Given the description of an element on the screen output the (x, y) to click on. 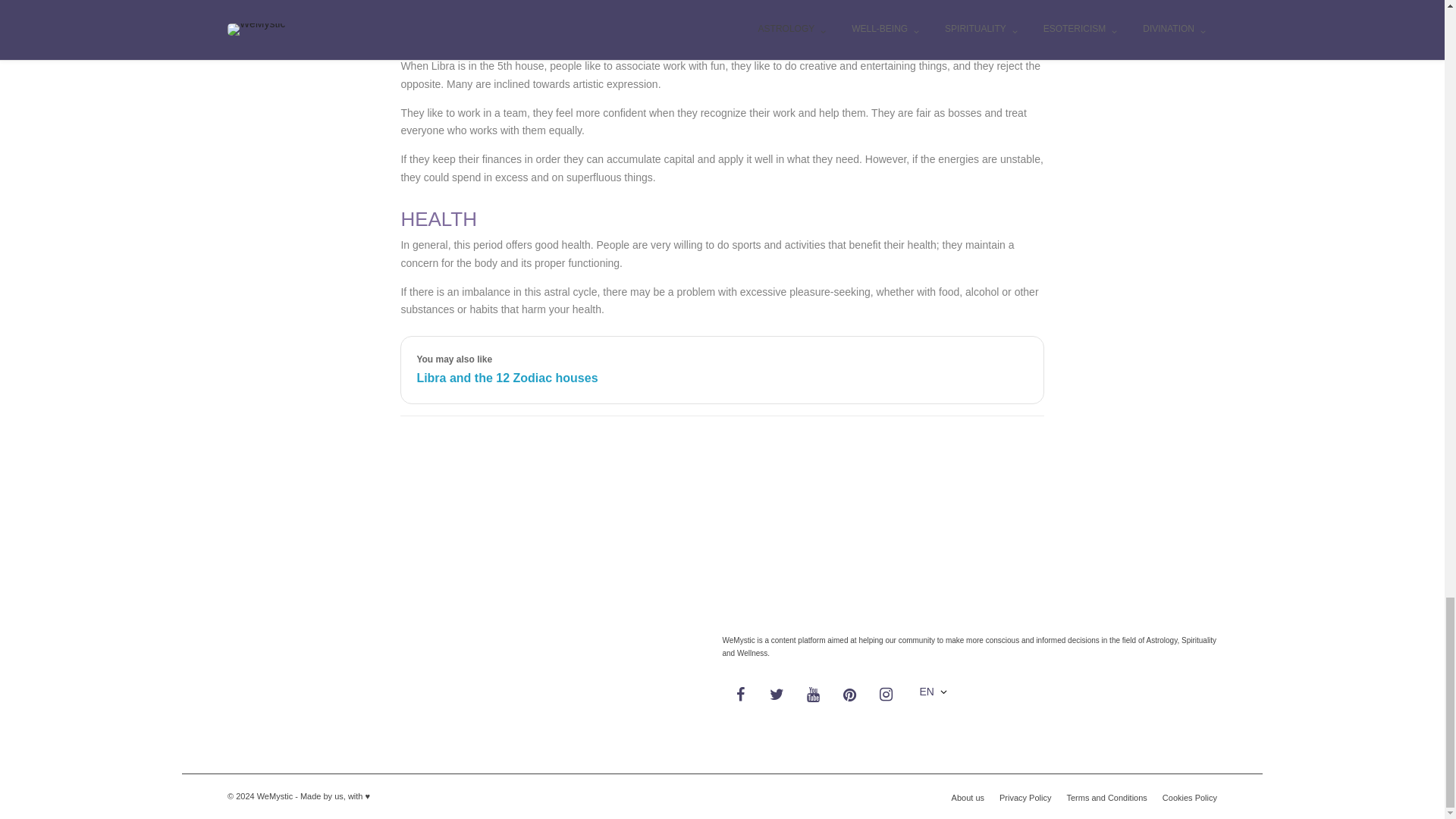
Instagram (885, 694)
Pinterest (849, 694)
Facebook (740, 694)
Libra and the 12 Zodiac houses (506, 377)
Twitter (776, 694)
Youtube (813, 694)
